Given the description of an element on the screen output the (x, y) to click on. 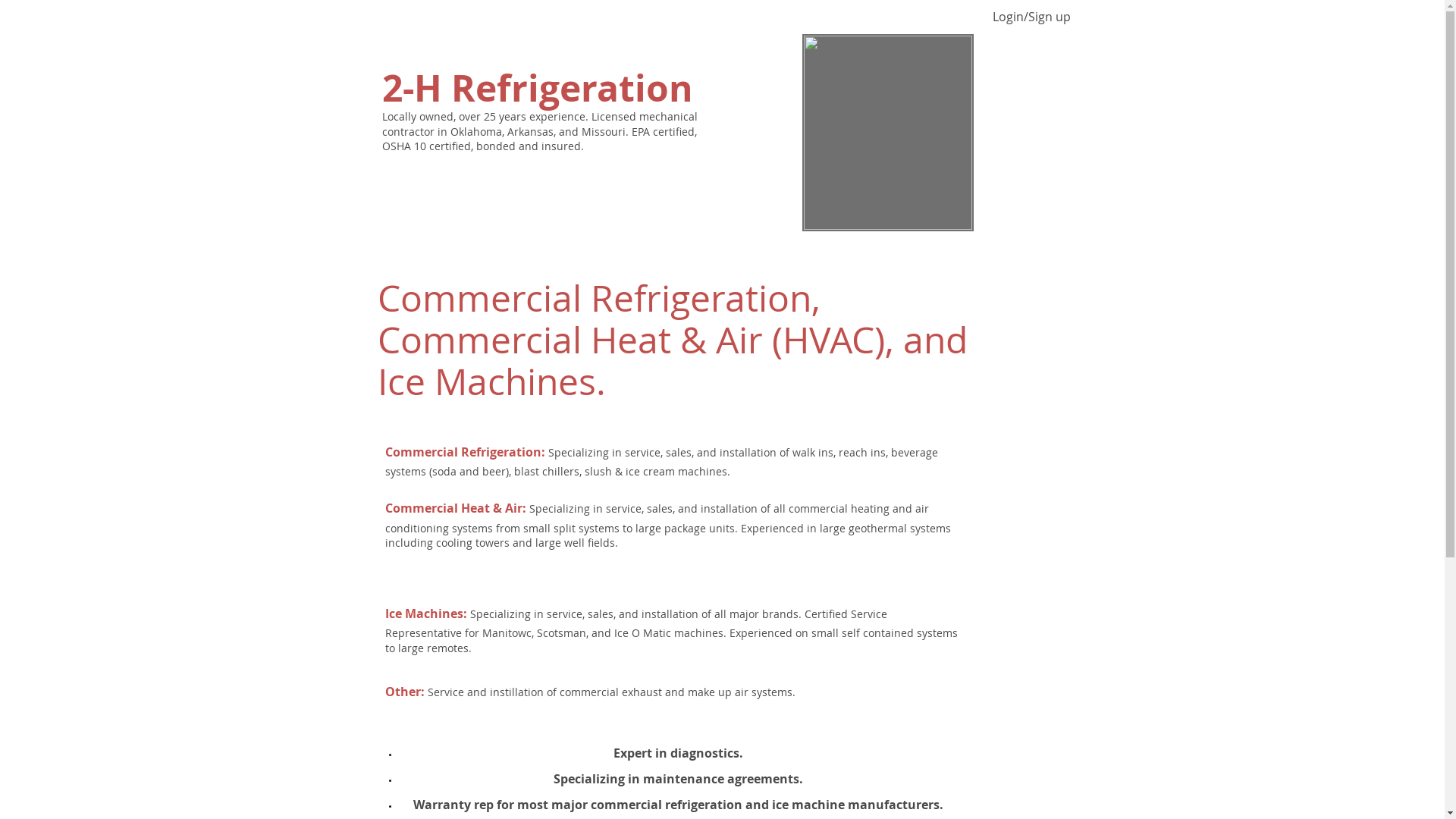
Login/Sign up Element type: text (1031, 16)
